Given the description of an element on the screen output the (x, y) to click on. 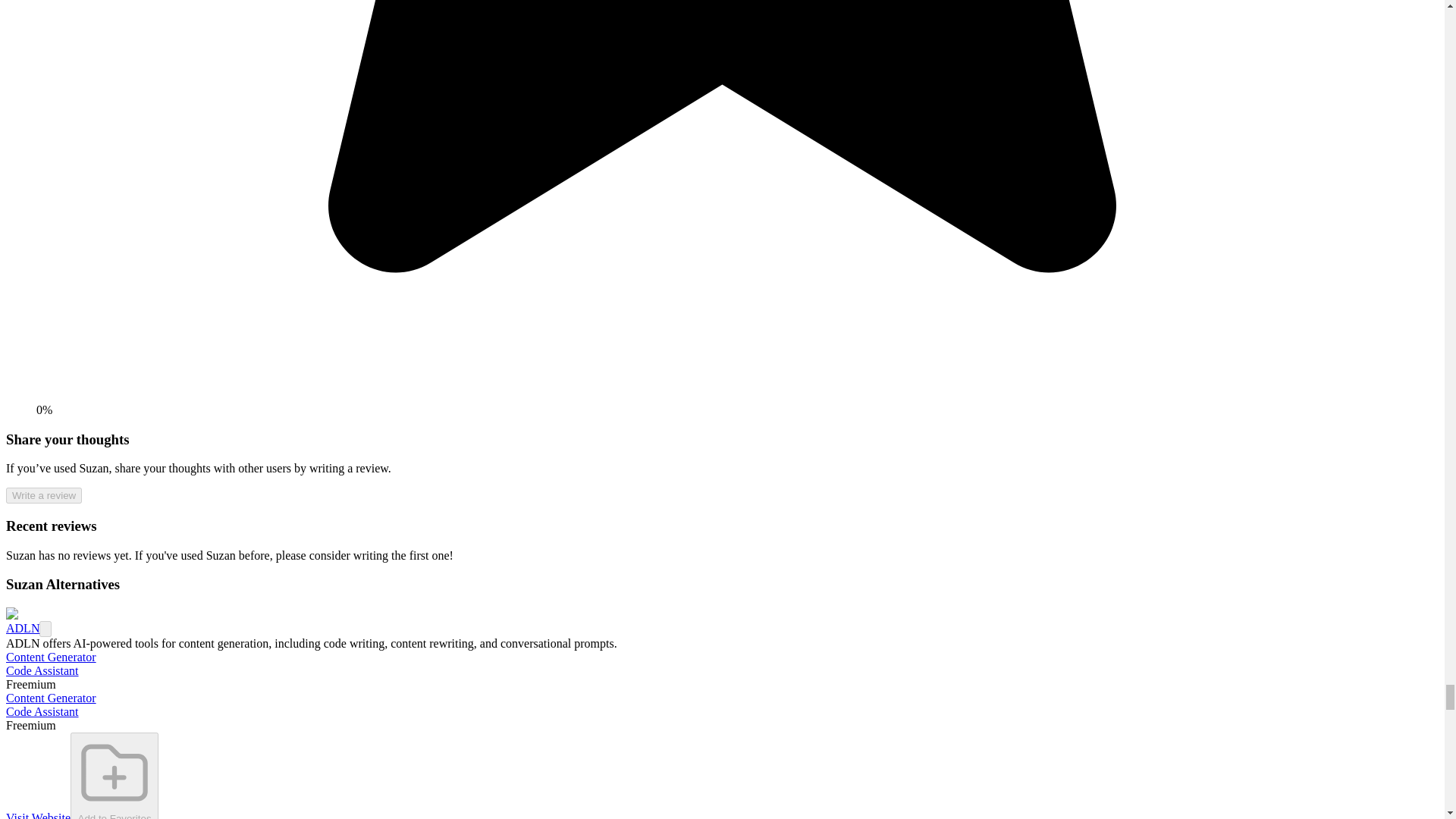
Write a review (43, 495)
ADLN (22, 627)
Add to Favorites (113, 775)
Code Assistant (41, 711)
Visit Website (37, 815)
Content Generator (50, 656)
Code Assistant (41, 670)
Content Generator (50, 697)
